Given the description of an element on the screen output the (x, y) to click on. 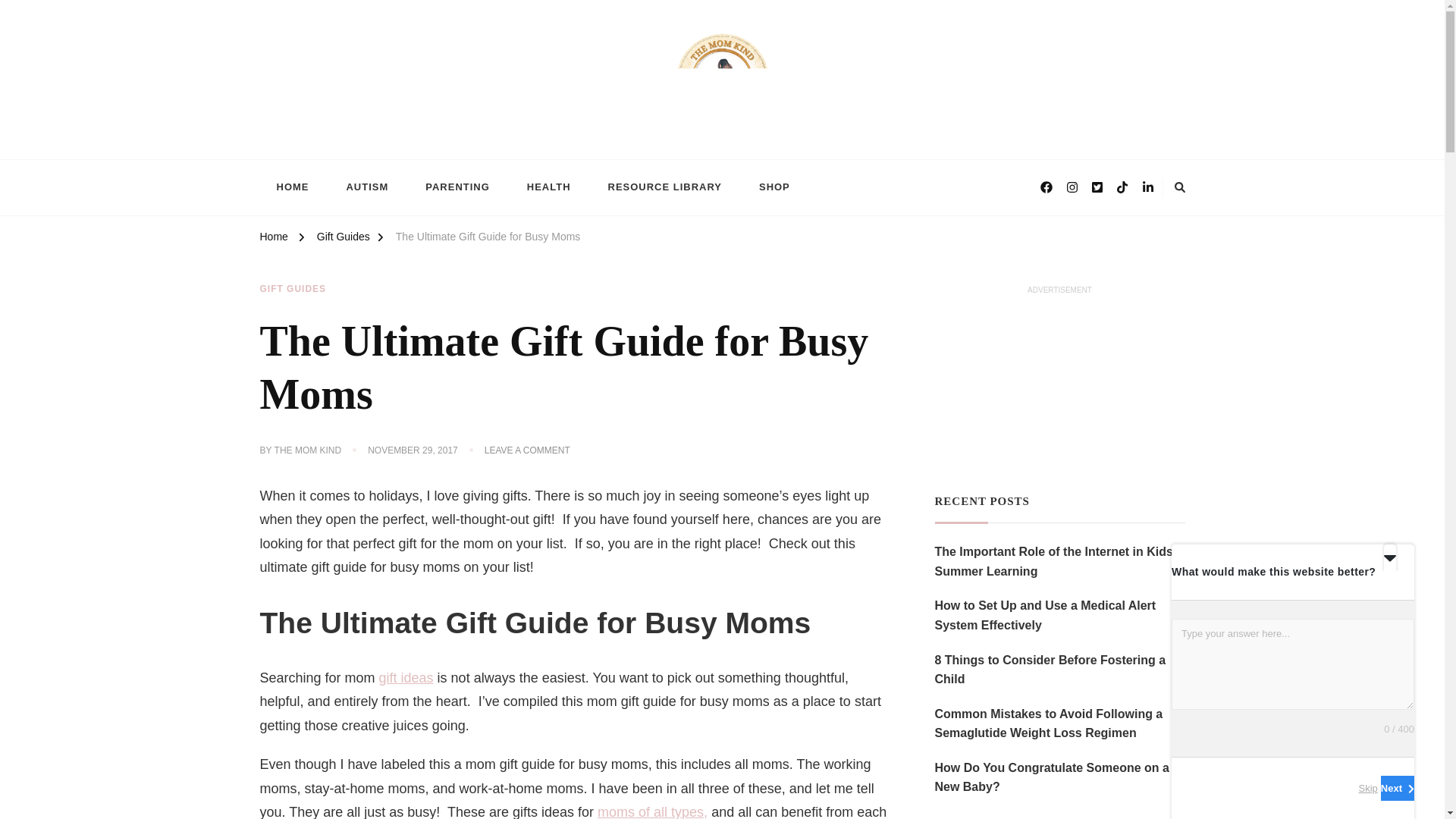
Gift Guides (343, 238)
moms of all types, (651, 811)
THE MOM KIND (527, 450)
The Mom Kind (308, 450)
SHOP (334, 150)
AUTISM (774, 187)
PARENTING (366, 187)
GIFT GUIDES (457, 187)
HOME (292, 289)
